Given the description of an element on the screen output the (x, y) to click on. 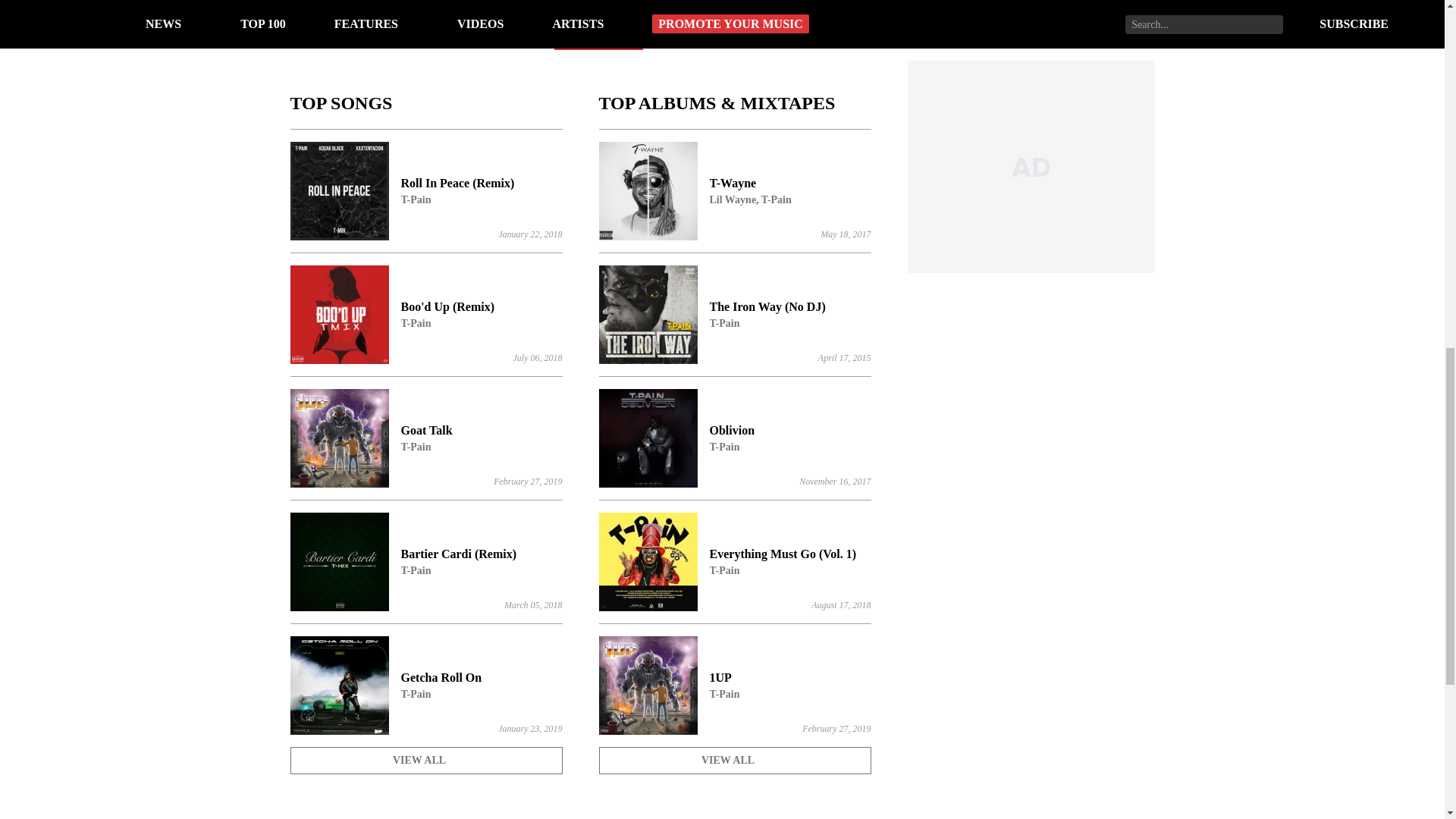
www.t-pain.net (598, 41)
VIEW ALL (425, 759)
March 05, 2018 (532, 604)
November 16, 2017 (834, 480)
July 06, 2018 (537, 357)
VIEW ALL (425, 438)
January 22, 2018 (734, 759)
February 27, 2019 (529, 234)
February 27, 2019 (836, 728)
April 17, 2015 (734, 685)
May 18, 2017 (425, 685)
